Given the description of an element on the screen output the (x, y) to click on. 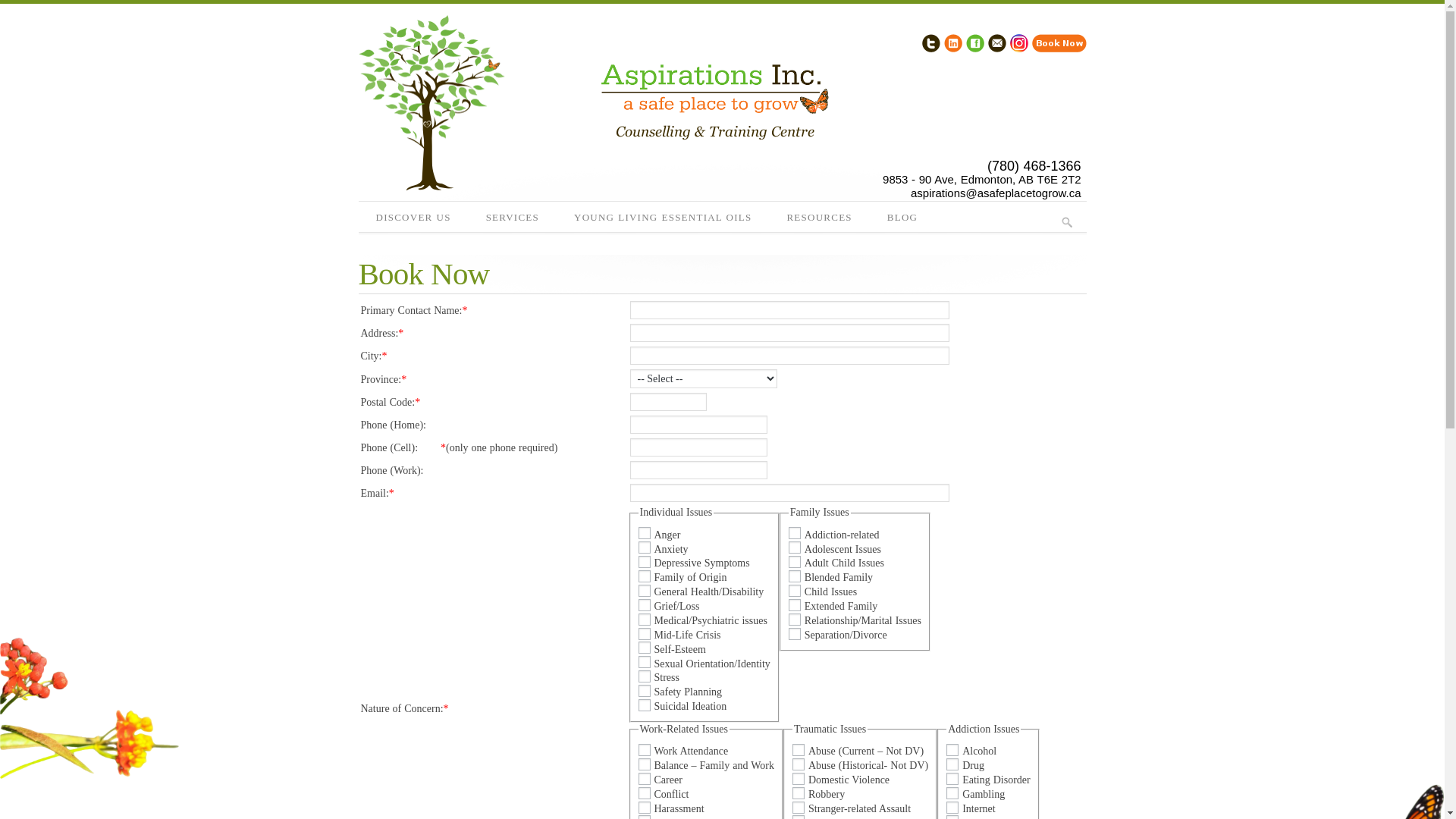
DISCOVER US Element type: text (412, 217)
submit Element type: text (1065, 221)
SERVICES Element type: text (512, 217)
YOUNG LIVING ESSENTIAL OILS Element type: text (662, 217)
RESOURCES Element type: text (818, 217)
BLOG Element type: text (902, 217)
